Given the description of an element on the screen output the (x, y) to click on. 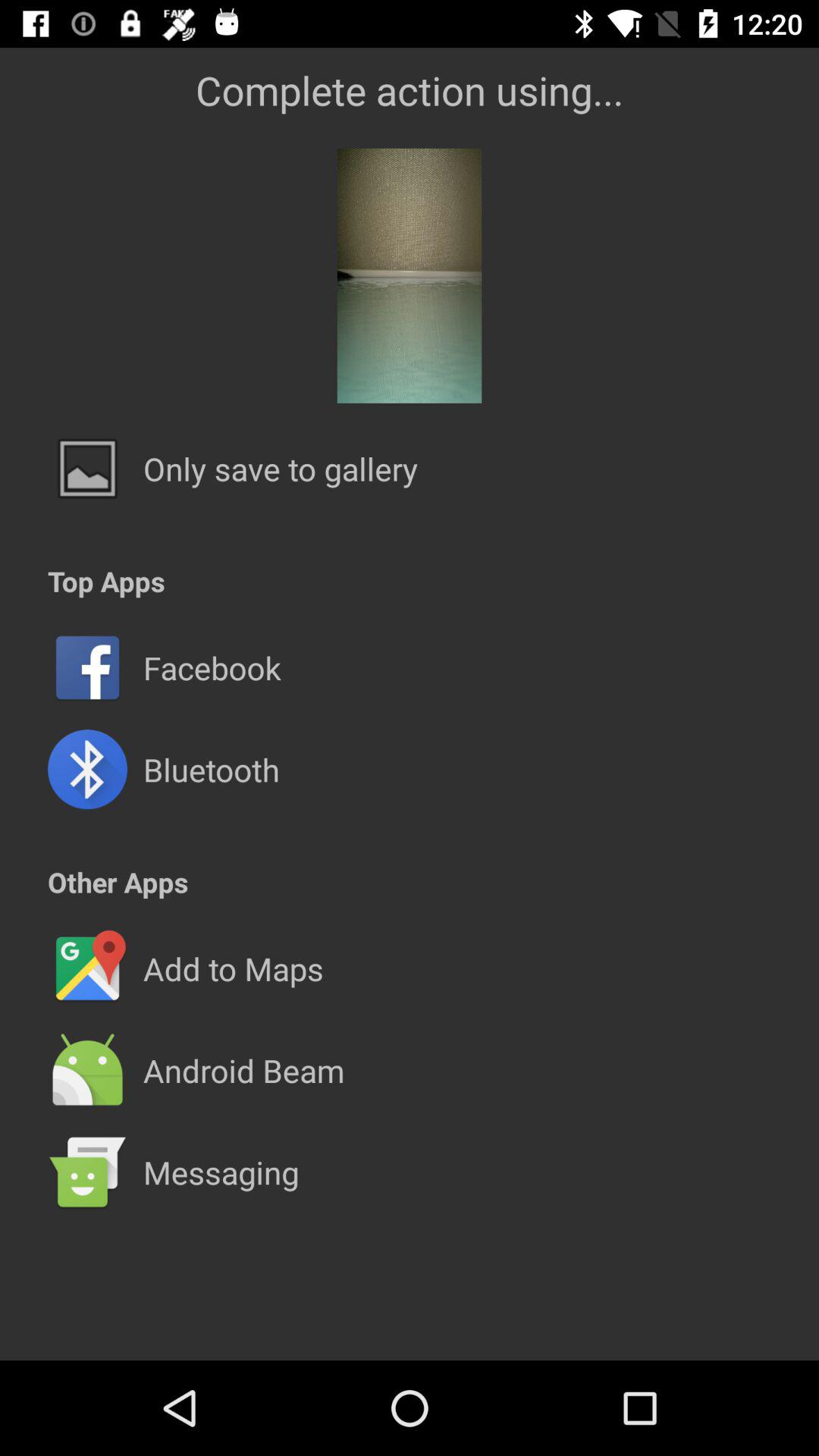
press messaging icon (221, 1171)
